Given the description of an element on the screen output the (x, y) to click on. 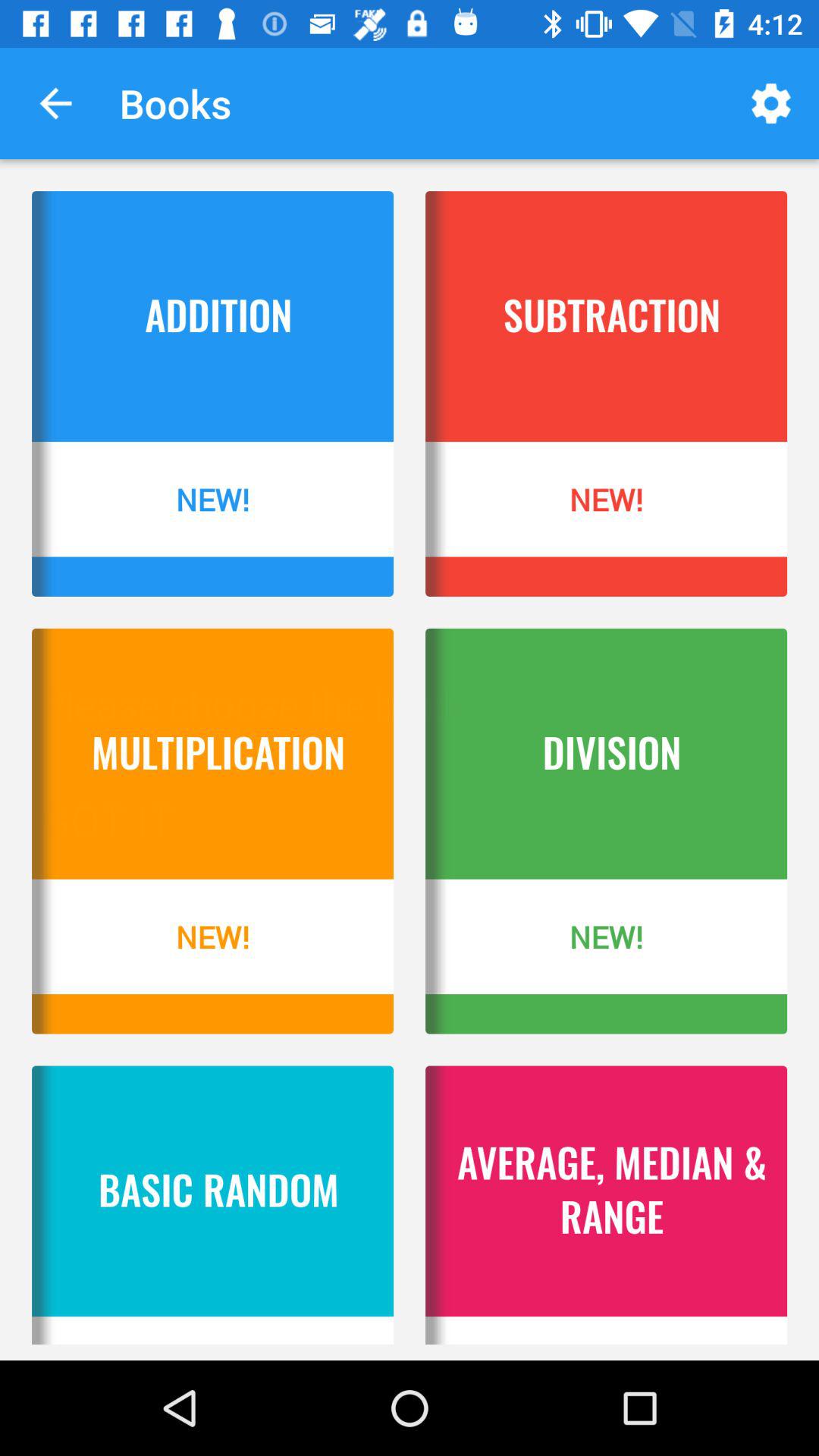
click the item to the left of books (55, 103)
